Given the description of an element on the screen output the (x, y) to click on. 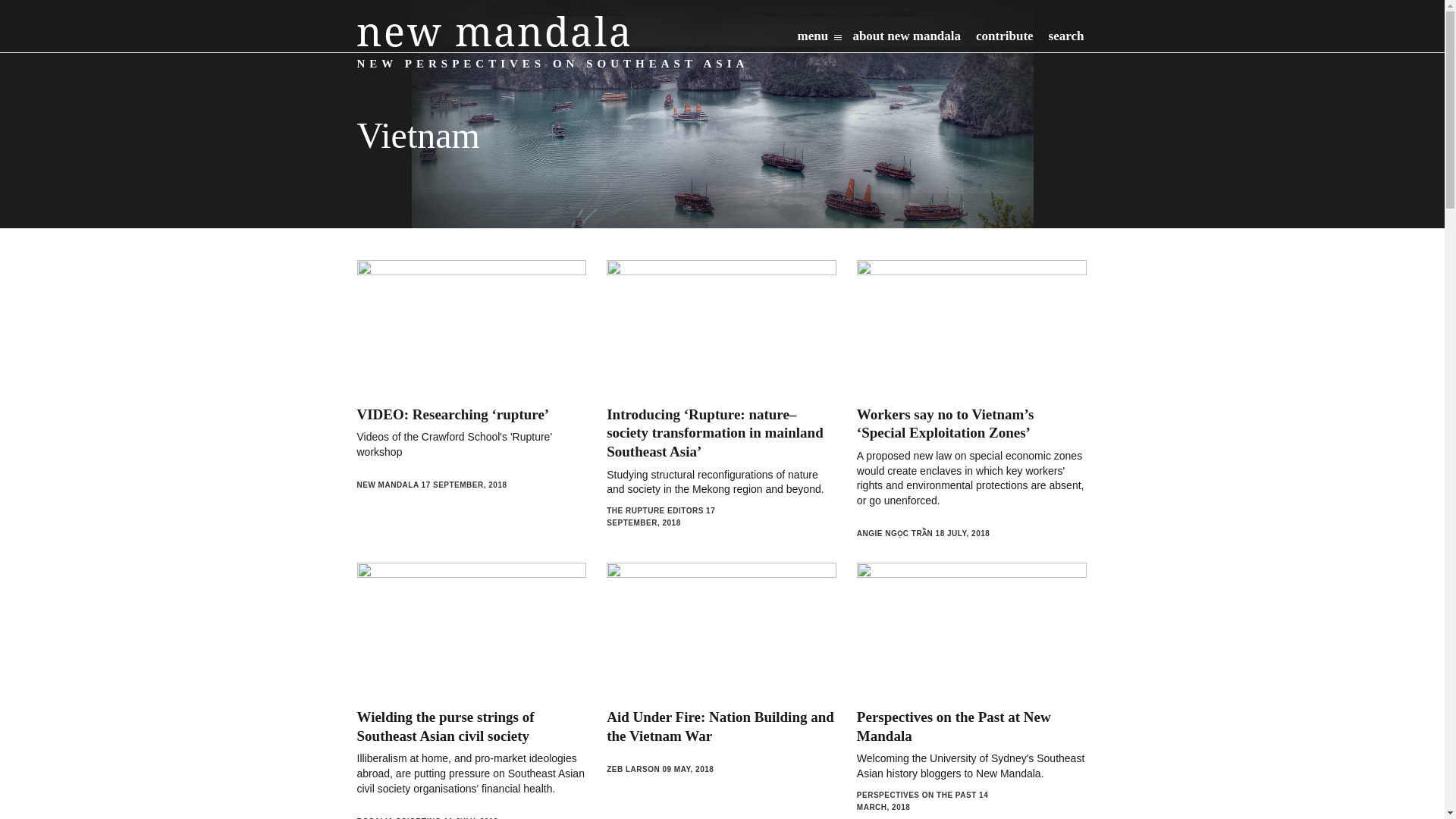
about new mandala (905, 39)
NEW PERSPECTIVES ON SOUTHEAST ASIA (492, 30)
PERSPECTIVES ON THE PAST (916, 795)
Perspectives on the Past at New Mandala (954, 726)
ZEB LARSON (633, 768)
contribute (1004, 39)
NEW MANDALA (387, 484)
Wielding the purse strings of Southeast Asian civil society (445, 726)
Search (978, 75)
search (1066, 39)
